Given the description of an element on the screen output the (x, y) to click on. 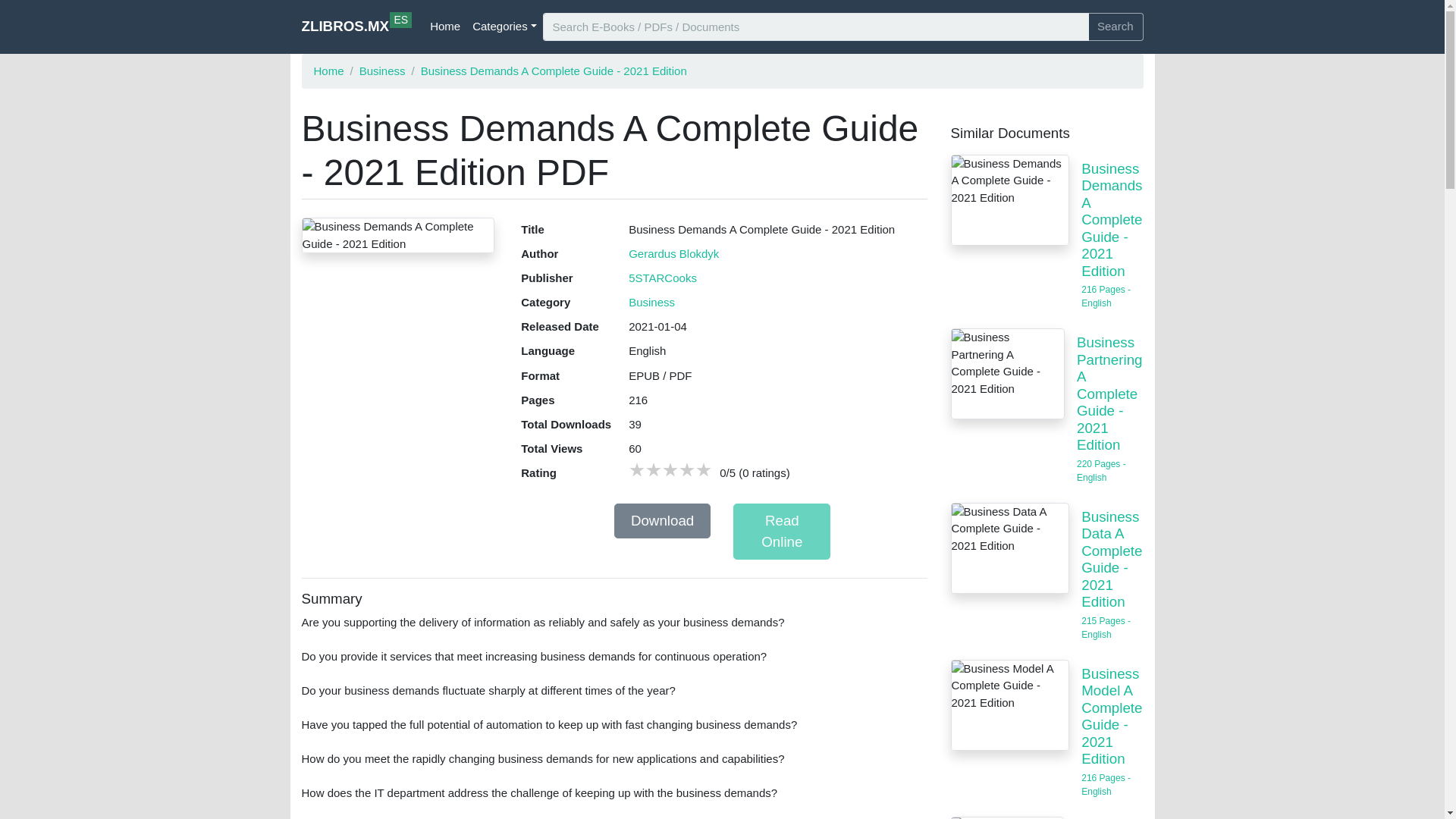
Home (444, 26)
Categories (503, 26)
Business Demands A Complete Guide - 2021 Edition (1010, 199)
Download (662, 520)
5STARCooks (662, 277)
Business Data A Complete Guide - 2021 Edition (1010, 547)
Home (328, 69)
Business Demands A Complete Guide - 2021 Edition (398, 235)
Business Model A Complete Guide - 2021 Edition (1010, 705)
Gerardus Blokdyk (673, 253)
Search (1114, 26)
Business Demands A Complete Guide - 2021 Edition (553, 69)
Business Objectives A Complete Guide - 2021 Edition (1007, 817)
Business (382, 69)
Business Partnering A Complete Guide - 2021 Edition (1007, 373)
